Given the description of an element on the screen output the (x, y) to click on. 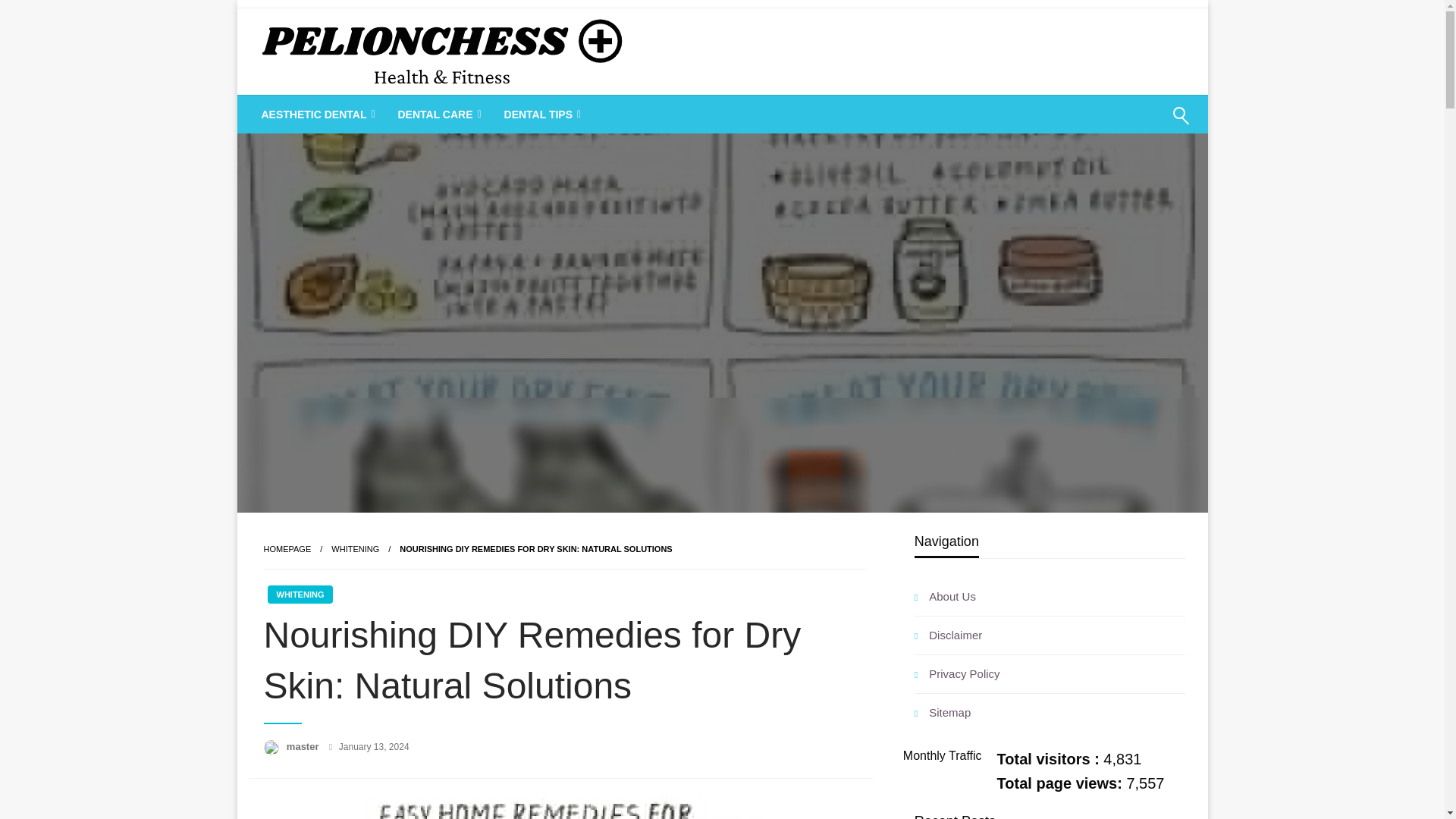
January 13, 2024 (374, 747)
WHITENING (299, 594)
Search (1144, 125)
AESTHETIC DENTAL (316, 114)
Homepage (287, 548)
HOMEPAGE (287, 548)
master (303, 746)
DENTAL CARE (437, 114)
DENTAL TIPS (541, 114)
Nourishing DIY Remedies for Dry Skin: Natural Solutions (534, 548)
